Given the description of an element on the screen output the (x, y) to click on. 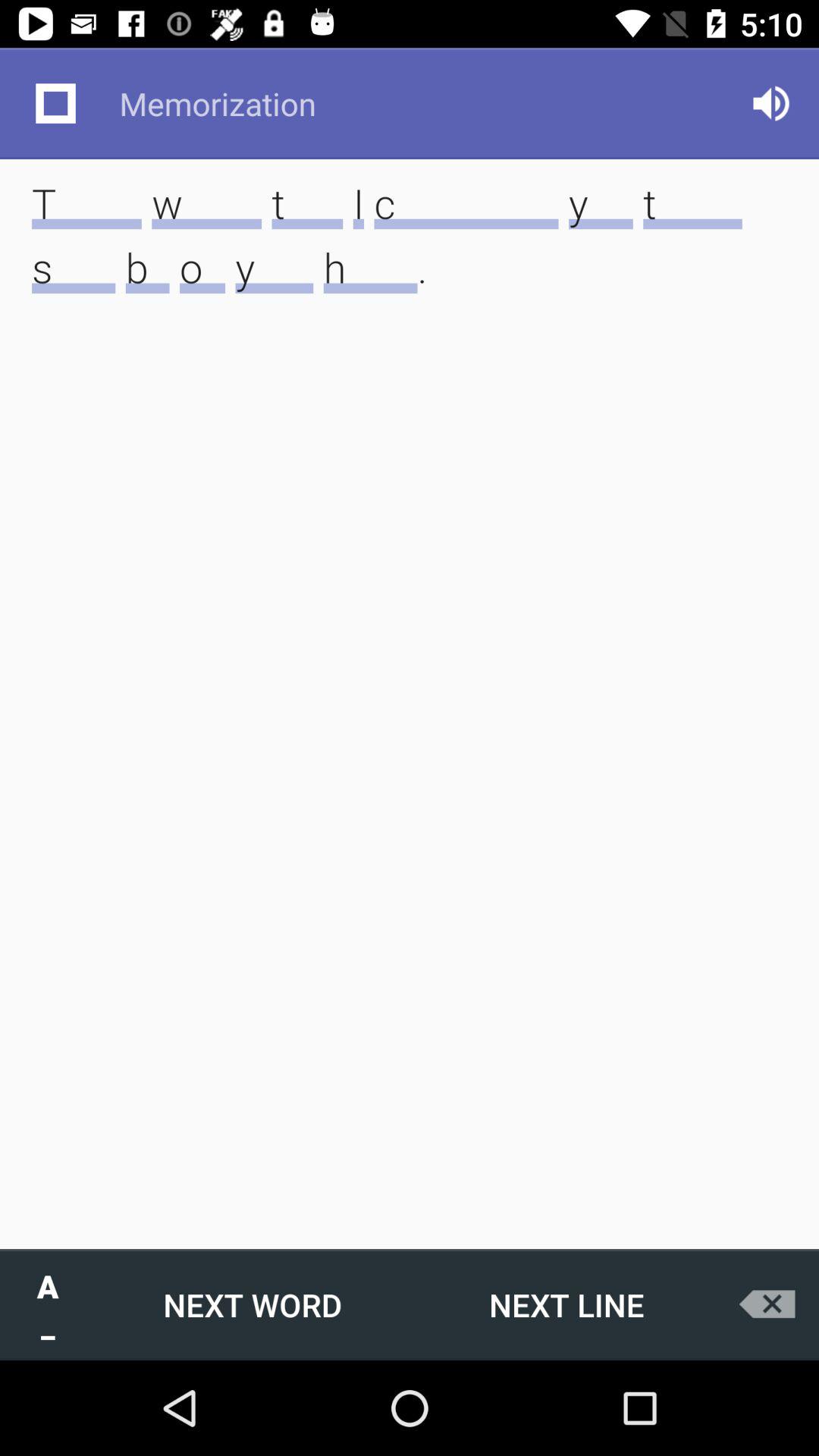
turn off the item to the right of a
_ (252, 1304)
